Given the description of an element on the screen output the (x, y) to click on. 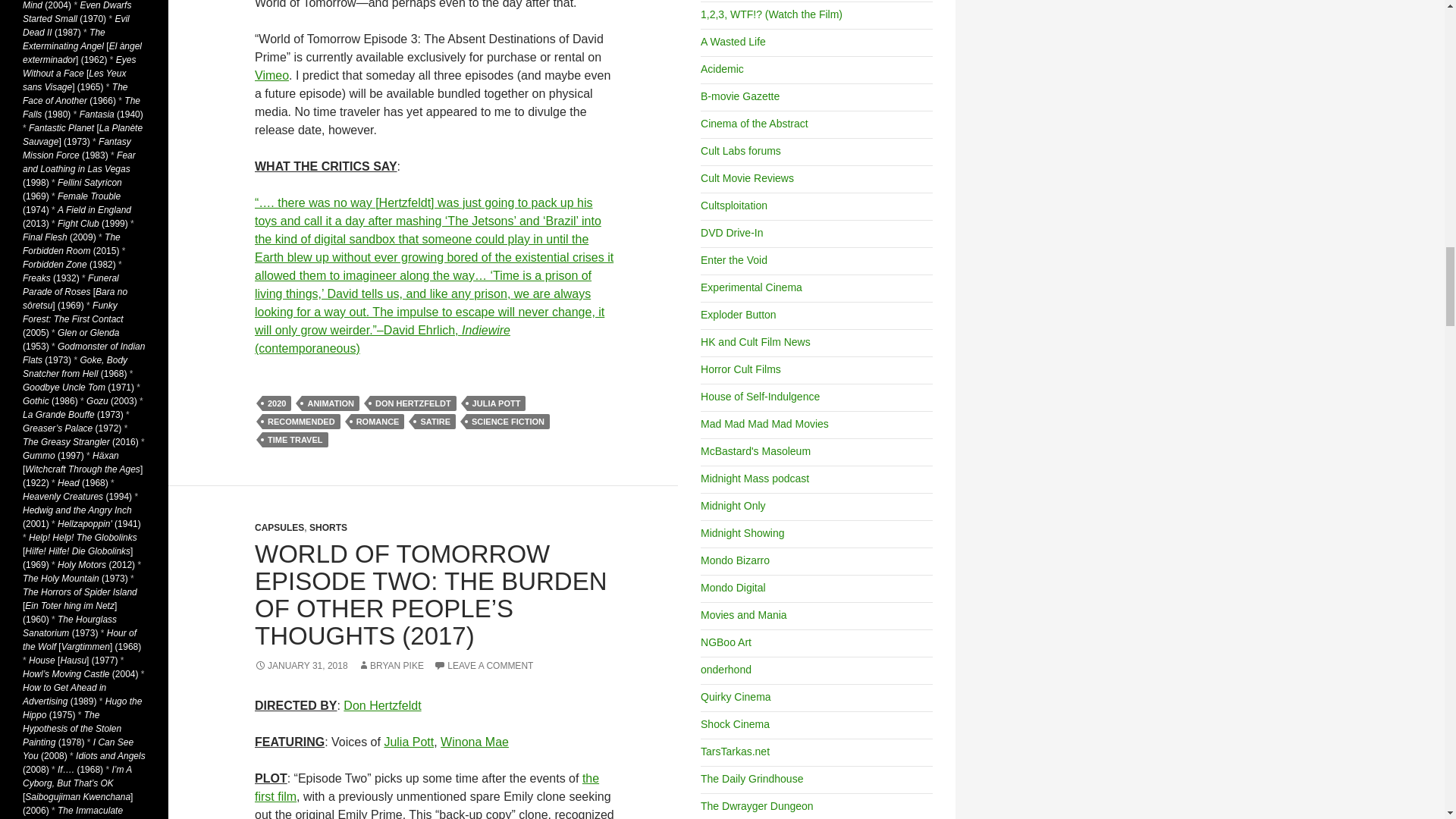
ROMANCE (377, 421)
The latest cult movie DVD reviews (731, 232)
JULIA POTT (496, 403)
Vimeo (271, 74)
News and resources on experimental films (751, 287)
SCIENCE FICTION (507, 421)
100 of the best B-movie blogs out there (739, 96)
SATIRE (434, 421)
2020 (276, 403)
ANIMATION (330, 403)
SHORTS (327, 527)
DON HERTZFELDT (413, 403)
A blog about obscure, trashy, fun, bad and fabulous films.  (732, 41)
RECOMMENDED (301, 421)
TIME TRAVEL (295, 439)
